Given the description of an element on the screen output the (x, y) to click on. 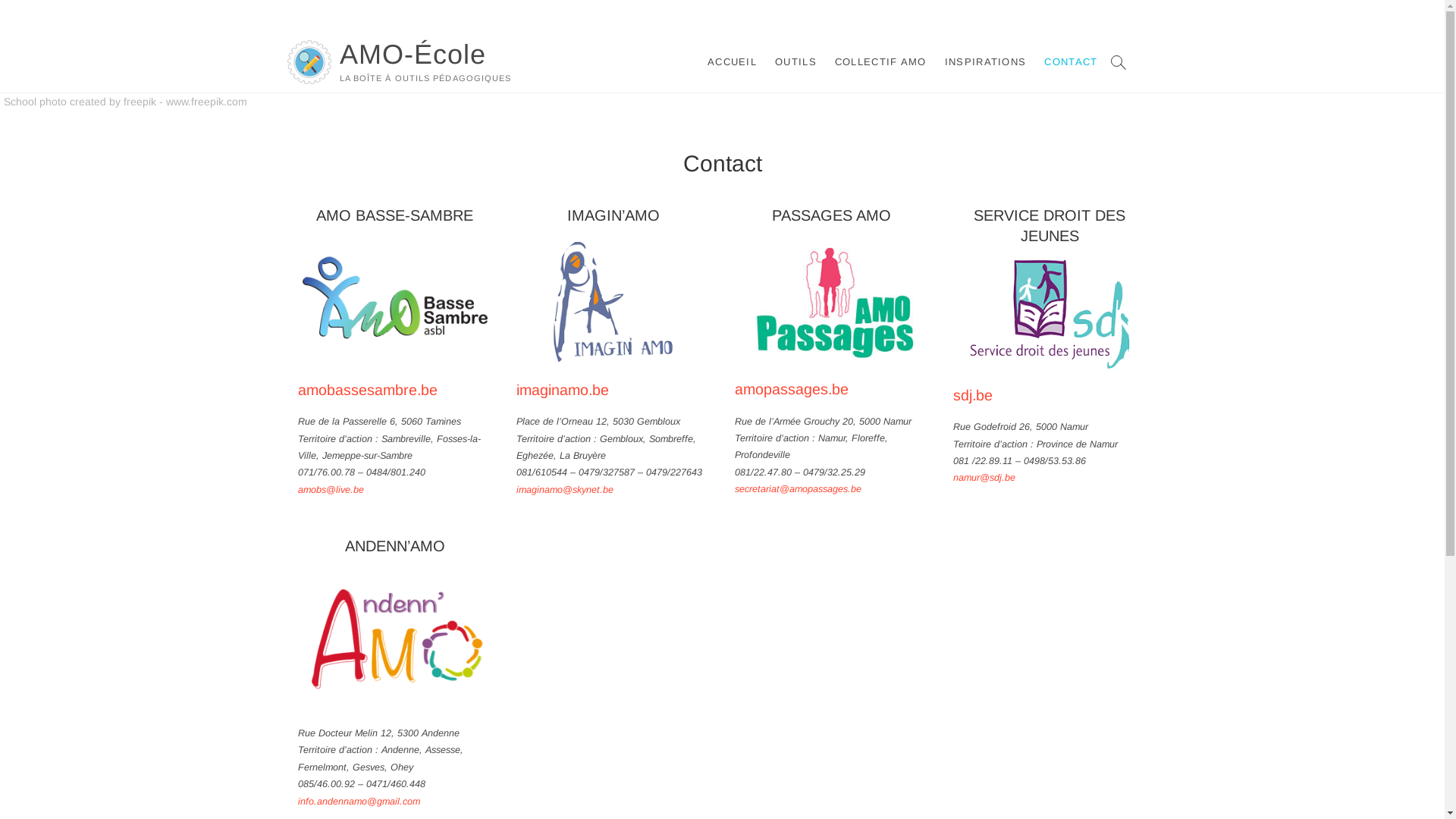
secretariat@amopassages.be Element type: text (797, 488)
namur@sdj.be Element type: text (984, 477)
School photo created by freepik - www.freepik.com Element type: text (125, 101)
amobassesambre.be Element type: text (367, 389)
info.andennamo@gmail.com Element type: text (359, 801)
amopassages.be Element type: text (791, 388)
imaginamo@skynet.be Element type: text (564, 489)
sdj.be Element type: text (972, 394)
imaginamo.be Element type: text (562, 389)
amobs@live.be Element type: text (331, 489)
ACCUEIL Element type: text (731, 61)
INSPIRATIONS Element type: text (985, 61)
OUTILS Element type: text (795, 61)
CONTACT Element type: text (1070, 61)
COLLECTIF AMO Element type: text (880, 61)
